Given the description of an element on the screen output the (x, y) to click on. 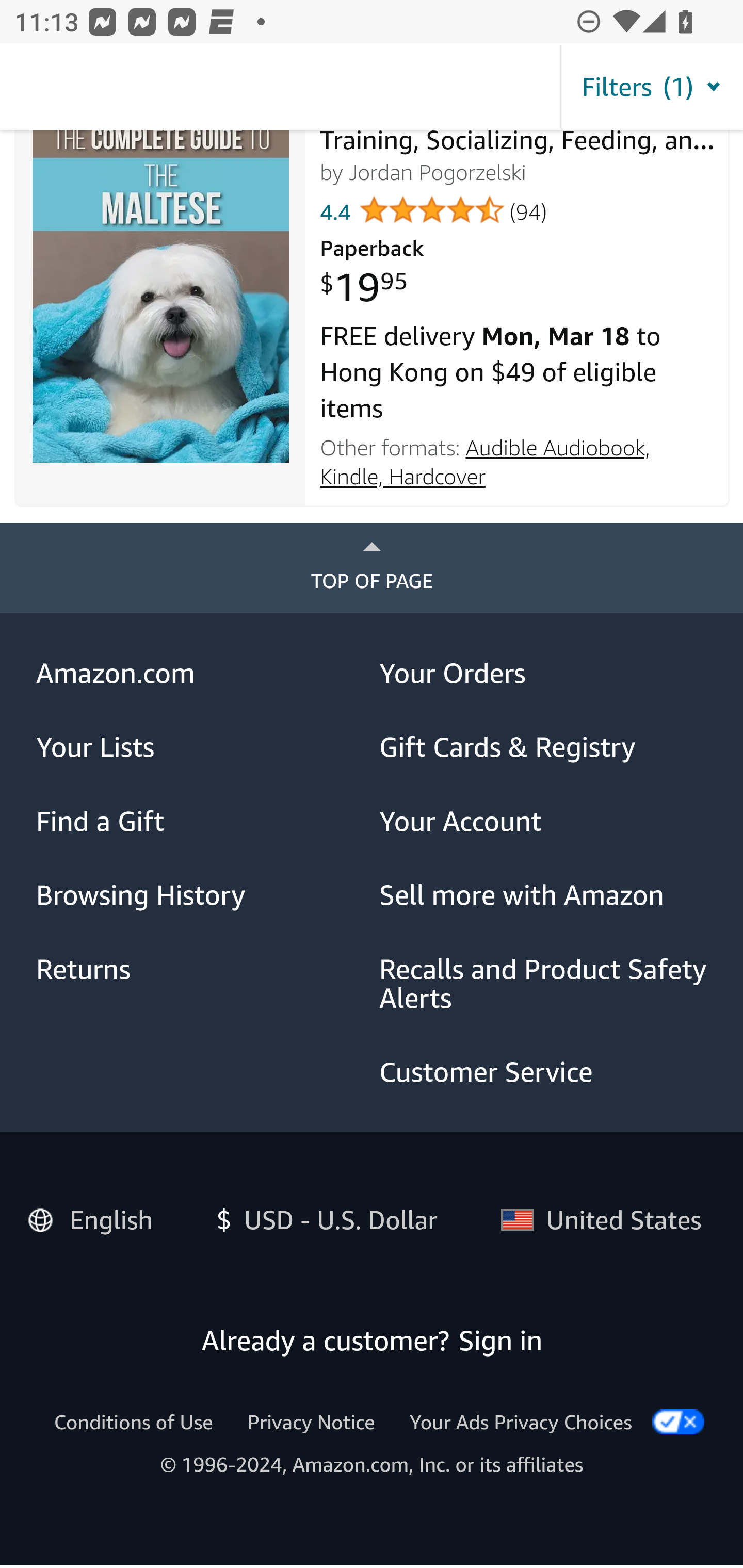
Filters (1) (651, 87)
Top of page TOP OF PAGE (371, 568)
Amazon.com (201, 673)
Your Orders (543, 673)
Your Lists (201, 747)
Gift Cards & Registry (543, 747)
Find a Gift (201, 821)
Your Account (543, 821)
Browsing History (201, 896)
Sell more with Amazon (543, 896)
Returns (201, 970)
Recalls and Product Safety Alerts (543, 984)
Customer Service (543, 1073)
Choose a language for shopping. English (96, 1217)
$USD - U.S. Dollar $ USD - U.S. Dollar (319, 1220)
Conditions of Use (132, 1422)
Privacy Notice (310, 1422)
Your Ads Privacy Choices (520, 1422)
